Given the description of an element on the screen output the (x, y) to click on. 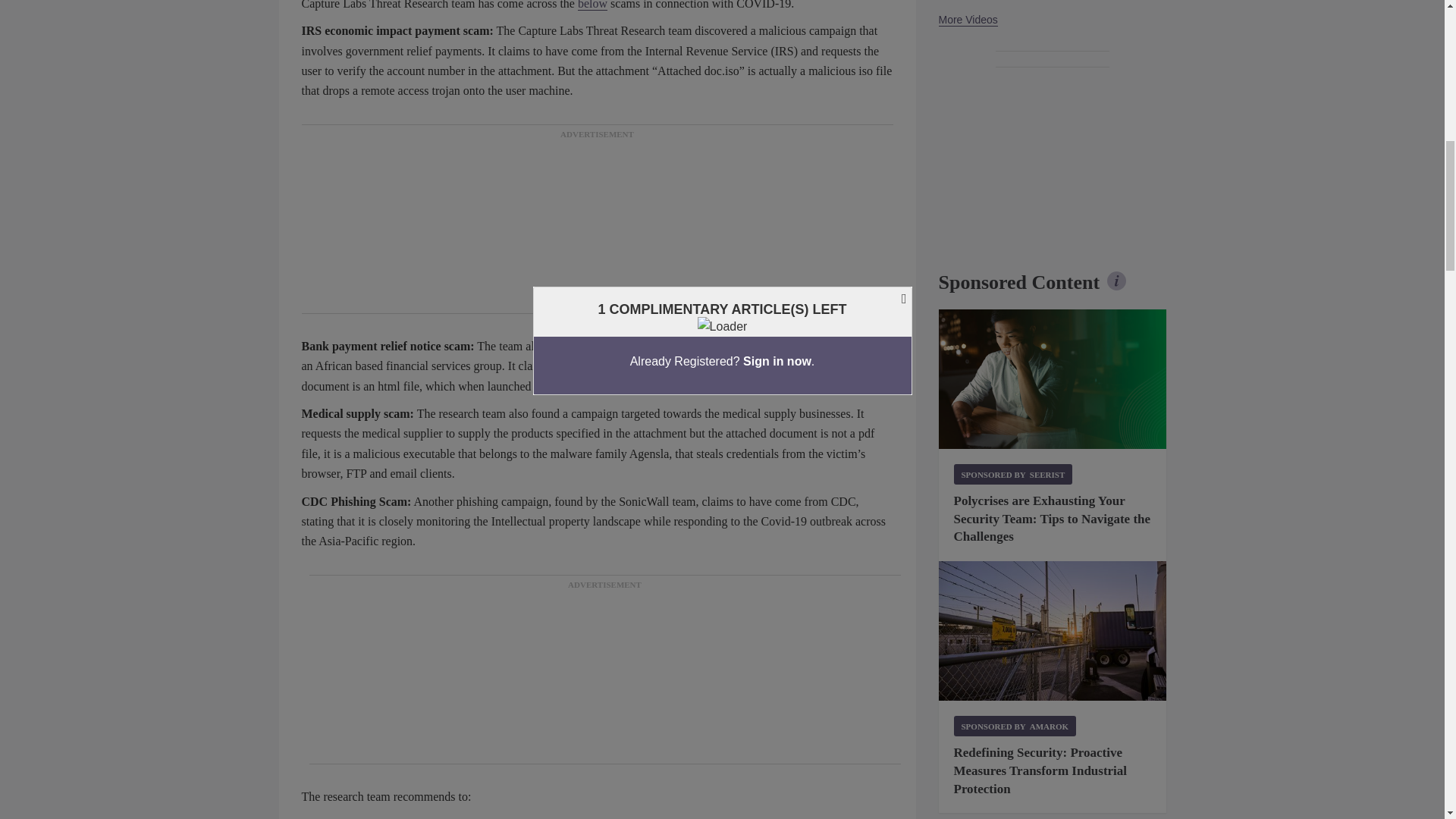
Sponsored by Seerist (1013, 474)
Threat management (1052, 378)
AMAROK Security Gate (1052, 631)
Sponsored by AMAROK (1015, 725)
